Given the description of an element on the screen output the (x, y) to click on. 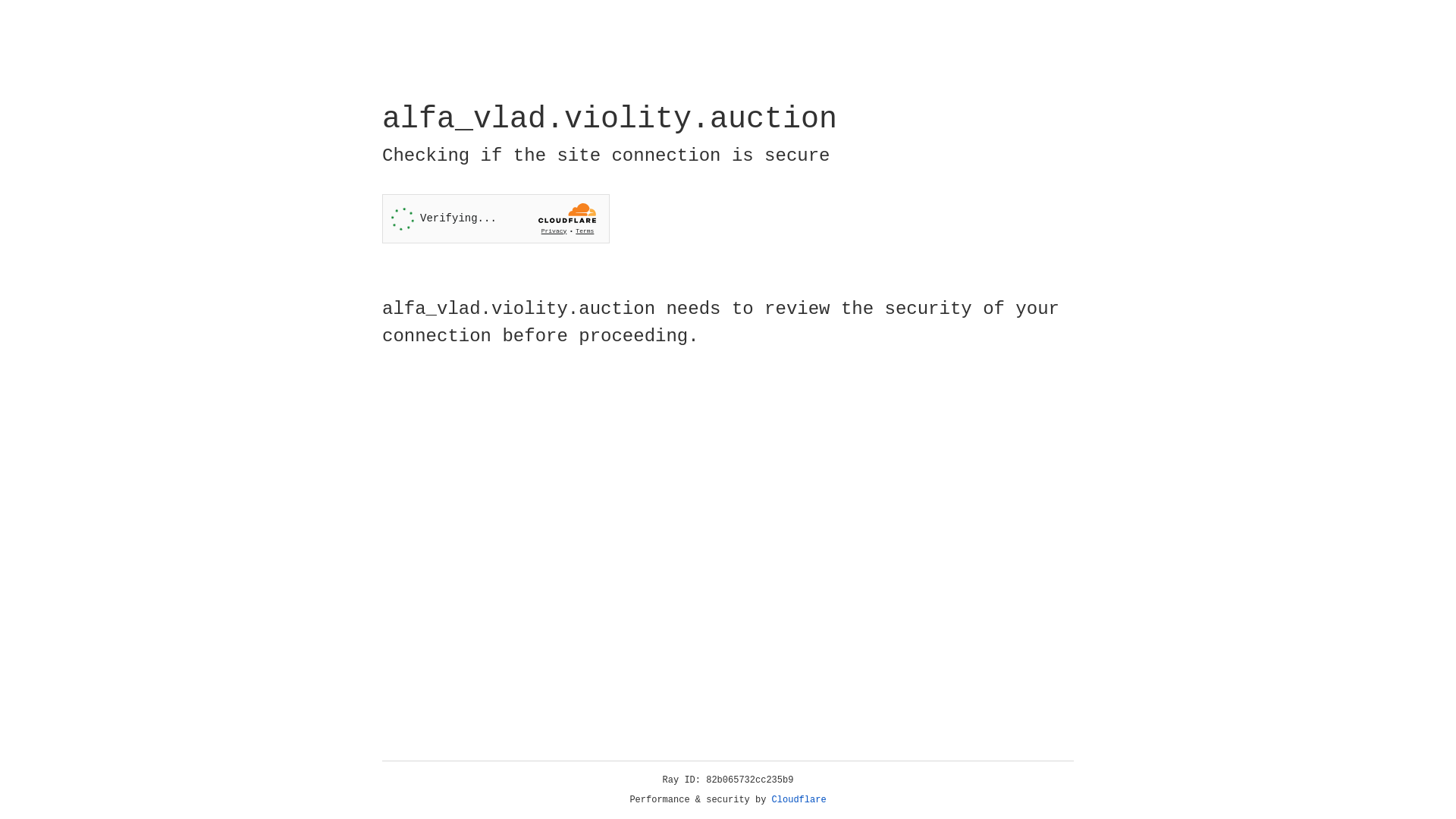
Widget containing a Cloudflare security challenge Element type: hover (495, 218)
Cloudflare Element type: text (798, 799)
